Given the description of an element on the screen output the (x, y) to click on. 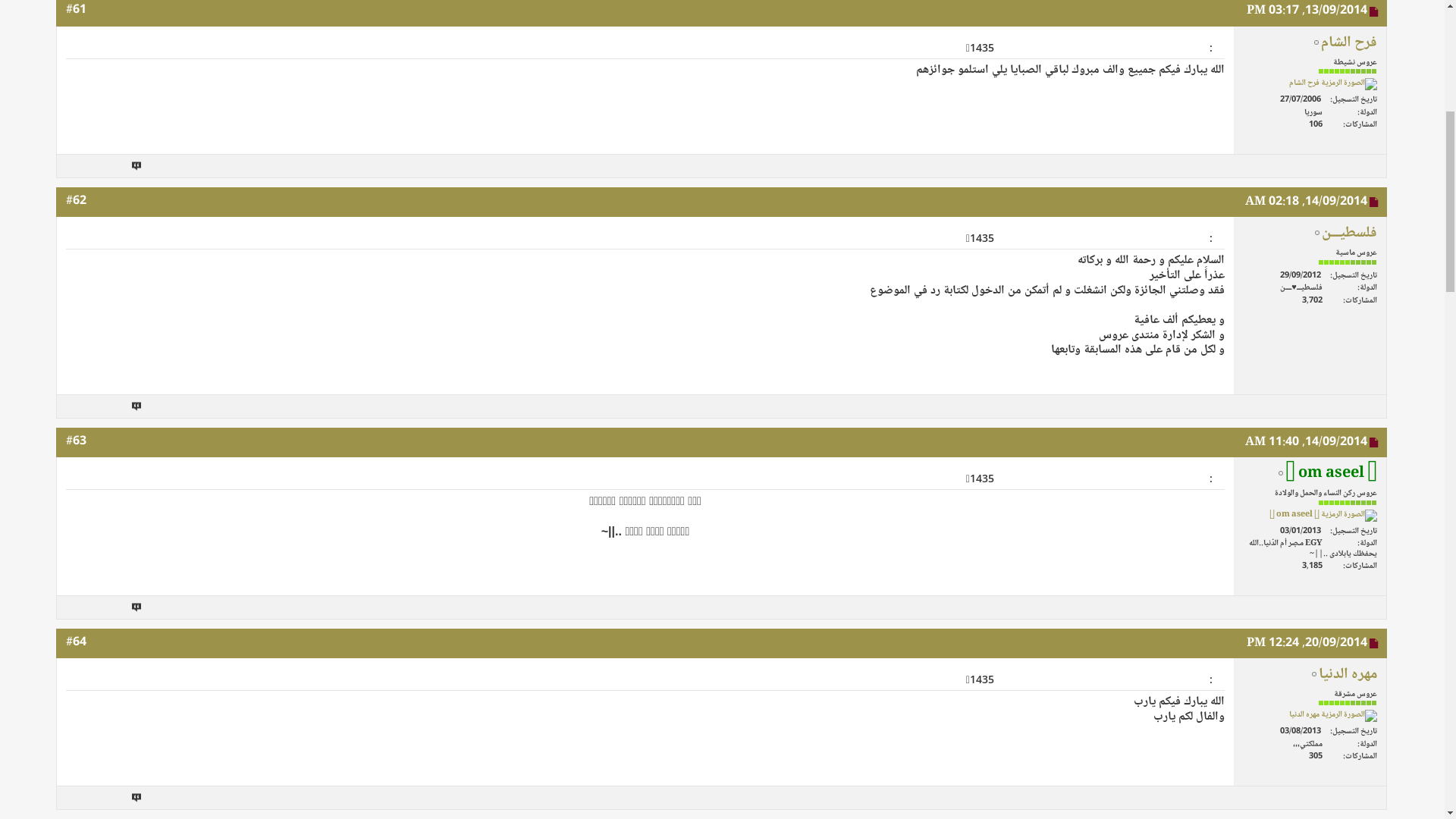
3 Element type: text (94, 336)
1 Element type: text (125, 336)
2 Element type: text (110, 336)
4 Element type: text (79, 336)
#62 Element type: text (75, 657)
5 Element type: text (64, 336)
#61 Element type: text (75, 466)
